Given the description of an element on the screen output the (x, y) to click on. 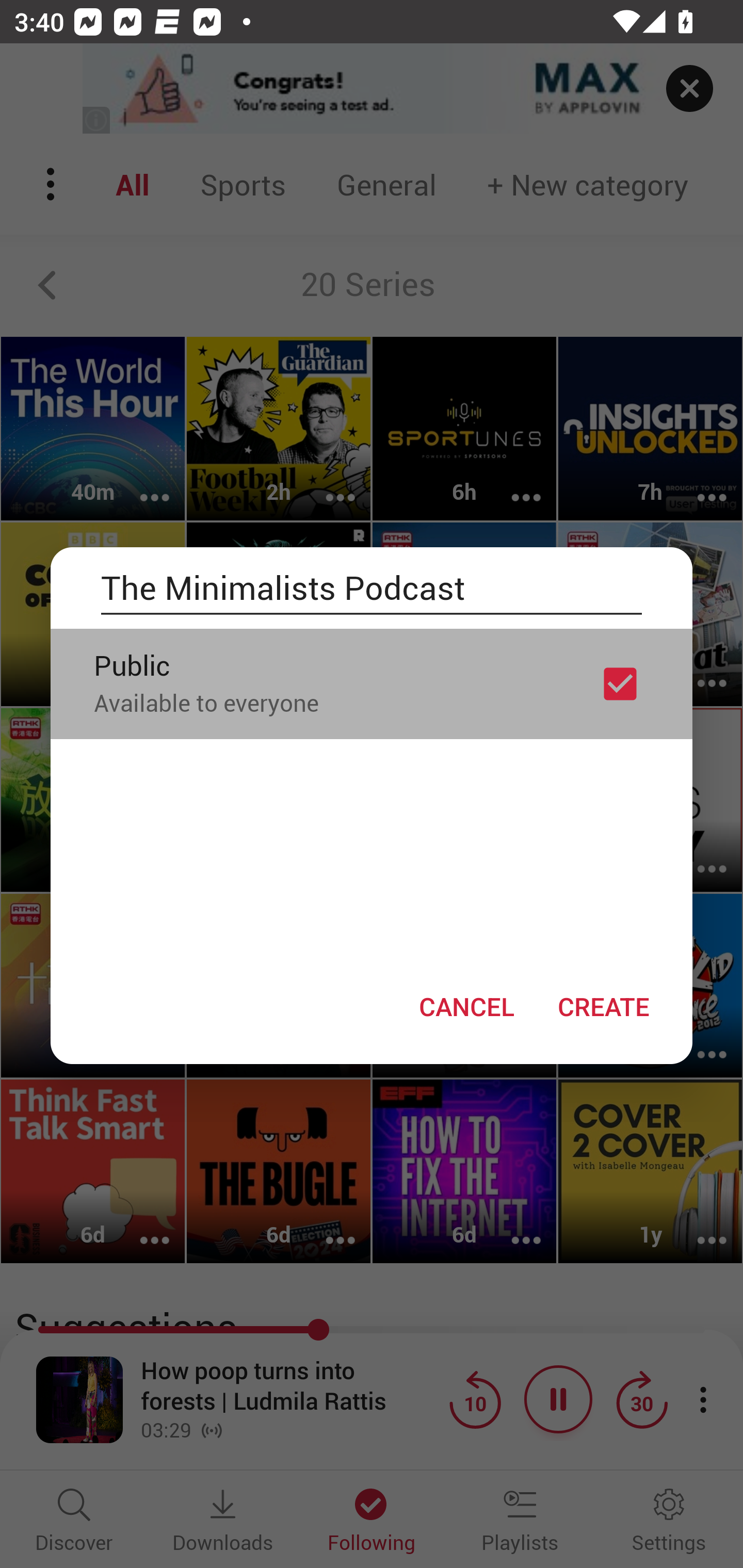
The Minimalists Podcast (371, 587)
Public Available to everyone (371, 683)
CANCEL (465, 1005)
CREATE (602, 1005)
